Given the description of an element on the screen output the (x, y) to click on. 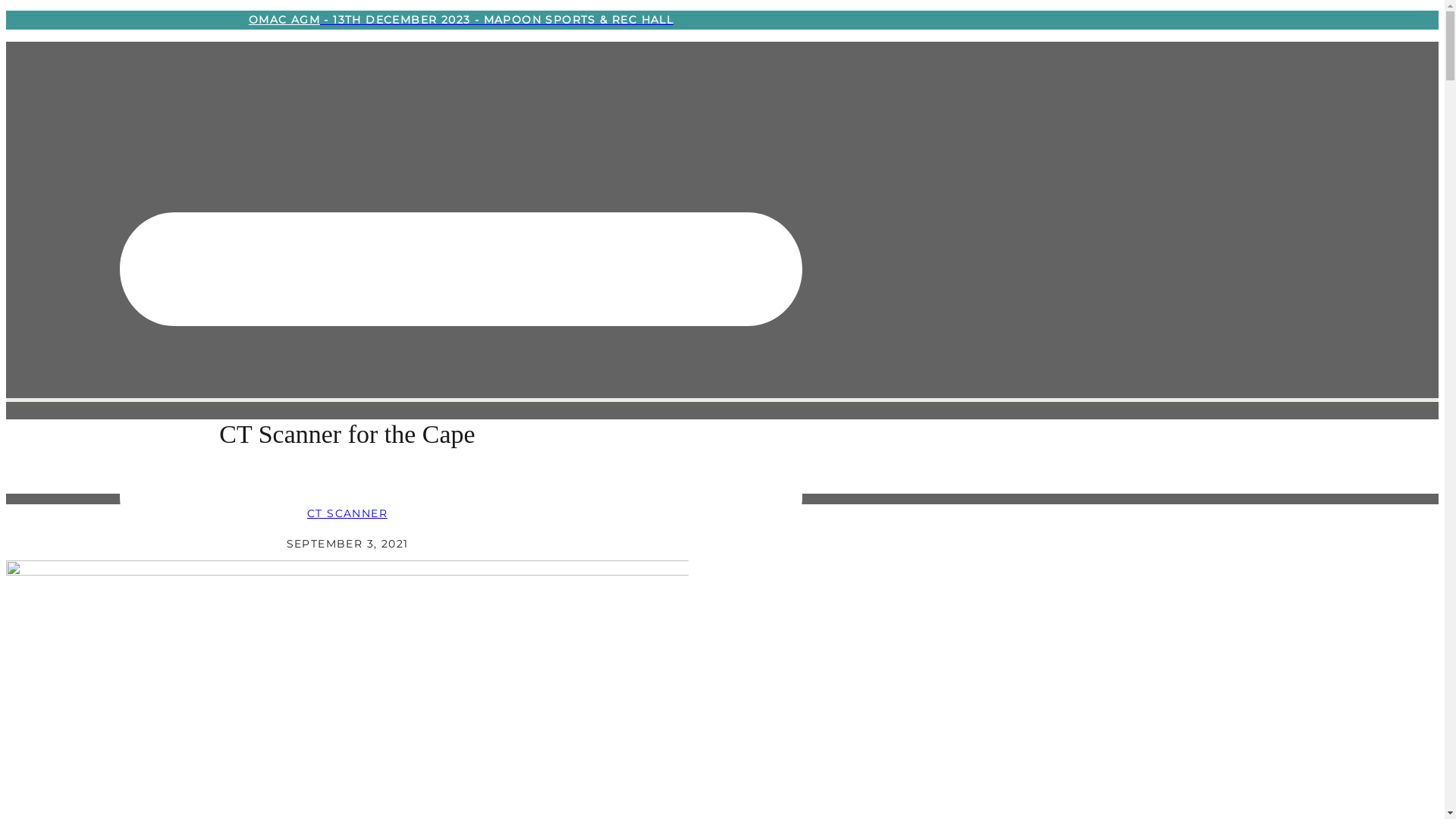
CT SCANNER Element type: text (347, 513)
OMAC AGM - 13TH DECEMBER 2023 - MAPOON SPORTS & REC HALL Element type: text (461, 19)
